Given the description of an element on the screen output the (x, y) to click on. 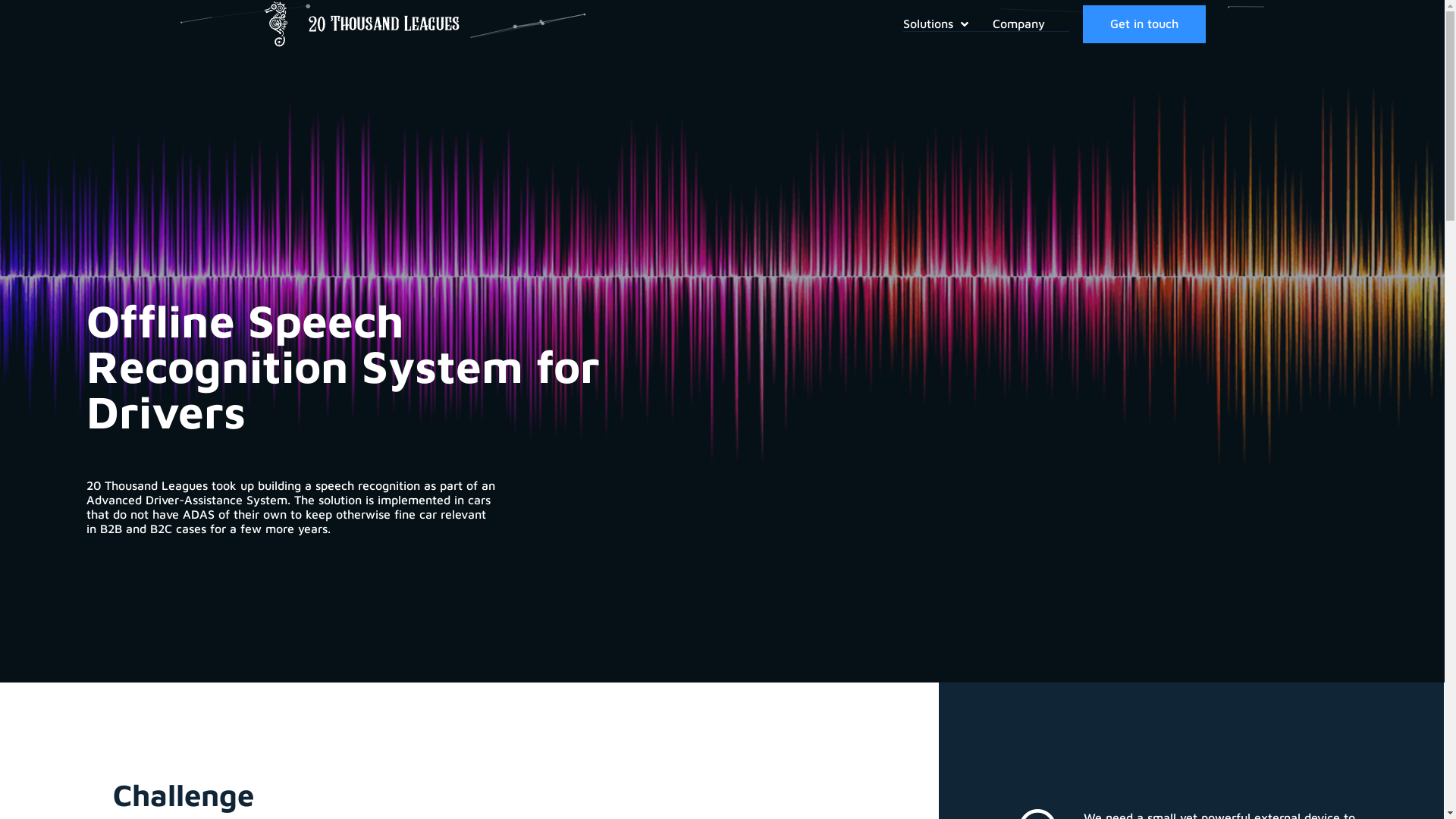
Solutions Element type: text (947, 23)
Get in touch Element type: text (1143, 24)
Company Element type: text (1030, 23)
